Given the description of an element on the screen output the (x, y) to click on. 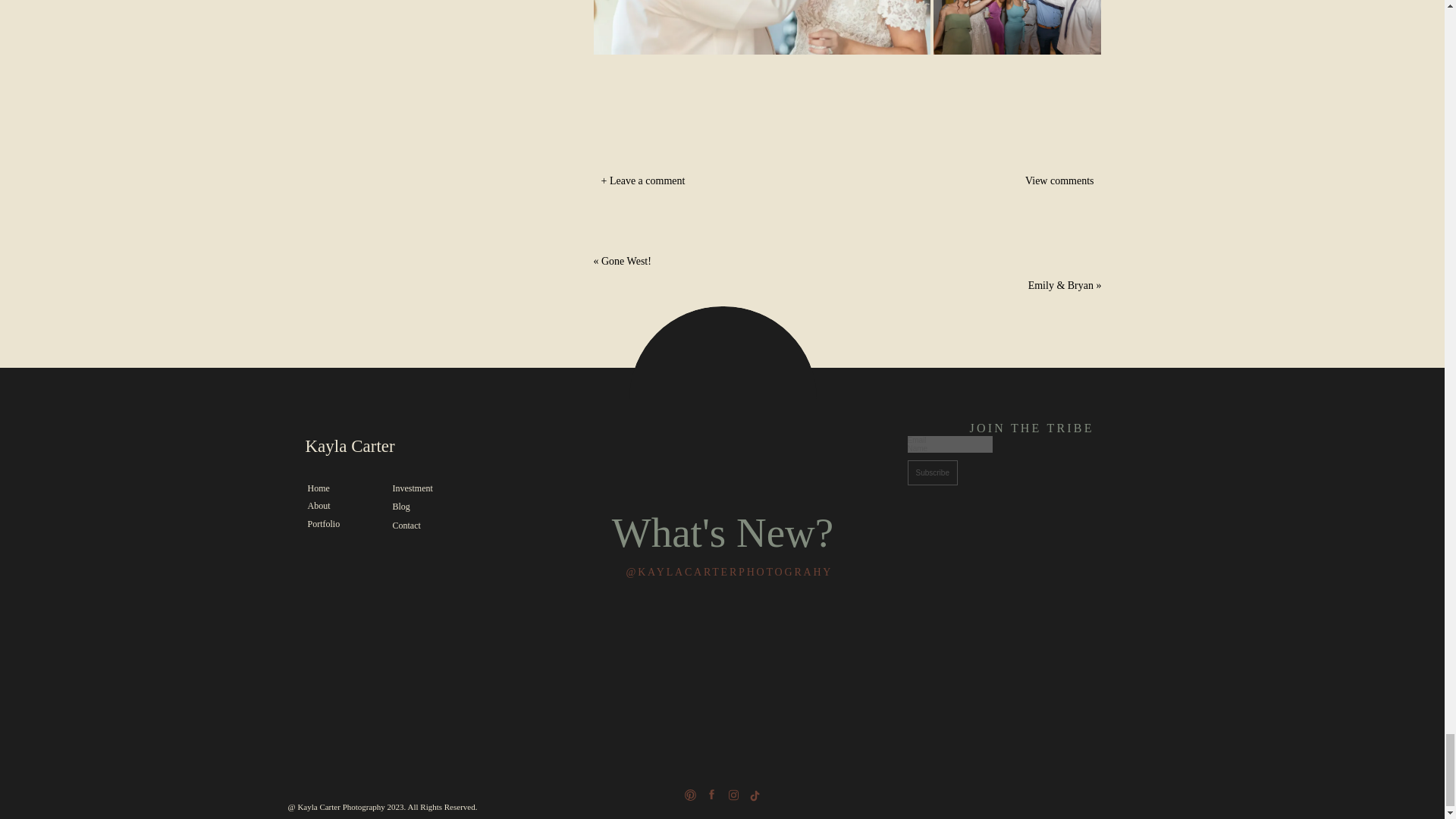
Subscribe (931, 472)
View comments (1021, 182)
Investment (425, 488)
Name (949, 448)
Kayla Carter (381, 448)
Gone West! (625, 260)
Email (949, 439)
Home (339, 489)
